Given the description of an element on the screen output the (x, y) to click on. 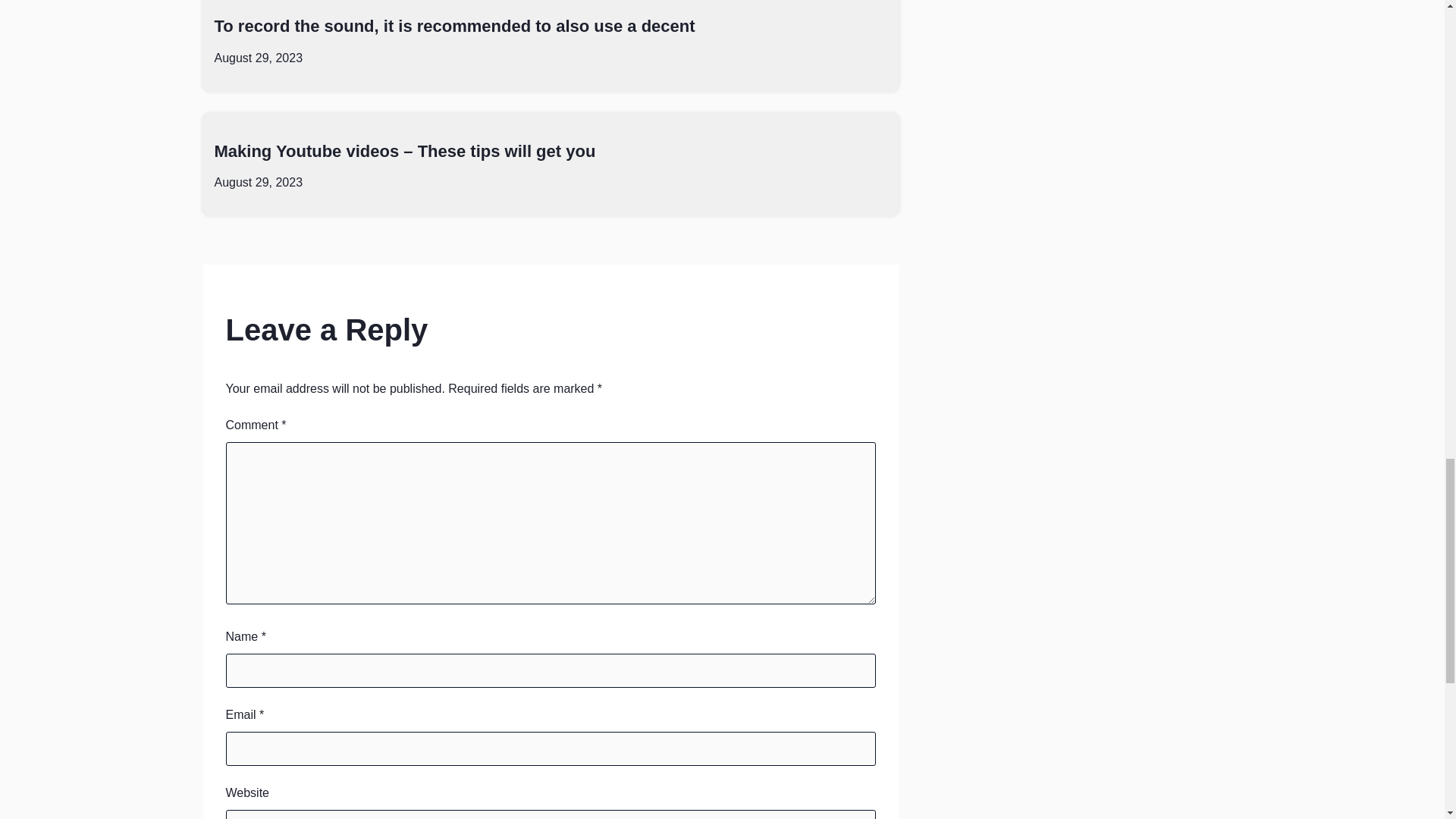
August 29, 2023 (258, 57)
To record the sound, it is recommended to also use a decent (454, 26)
August 29, 2023 (258, 182)
